Given the description of an element on the screen output the (x, y) to click on. 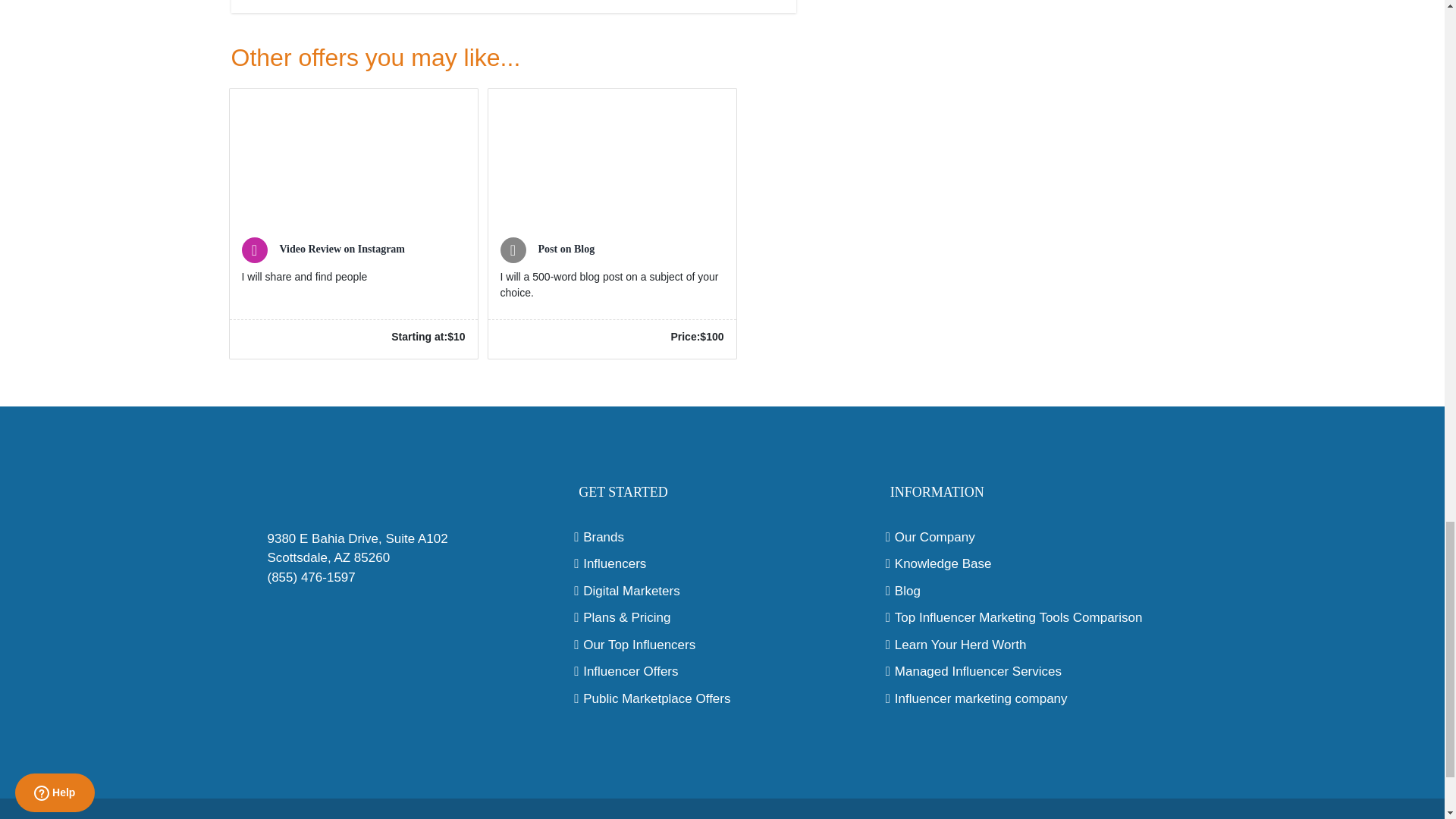
Our Company (1034, 537)
Public Marketplace Offers (722, 699)
Influencers (722, 564)
Digital Marketers (722, 591)
Our Top Influencers (722, 645)
Influencer Offers (722, 671)
Brands (722, 537)
Knowledge Base (1034, 564)
